Given the description of an element on the screen output the (x, y) to click on. 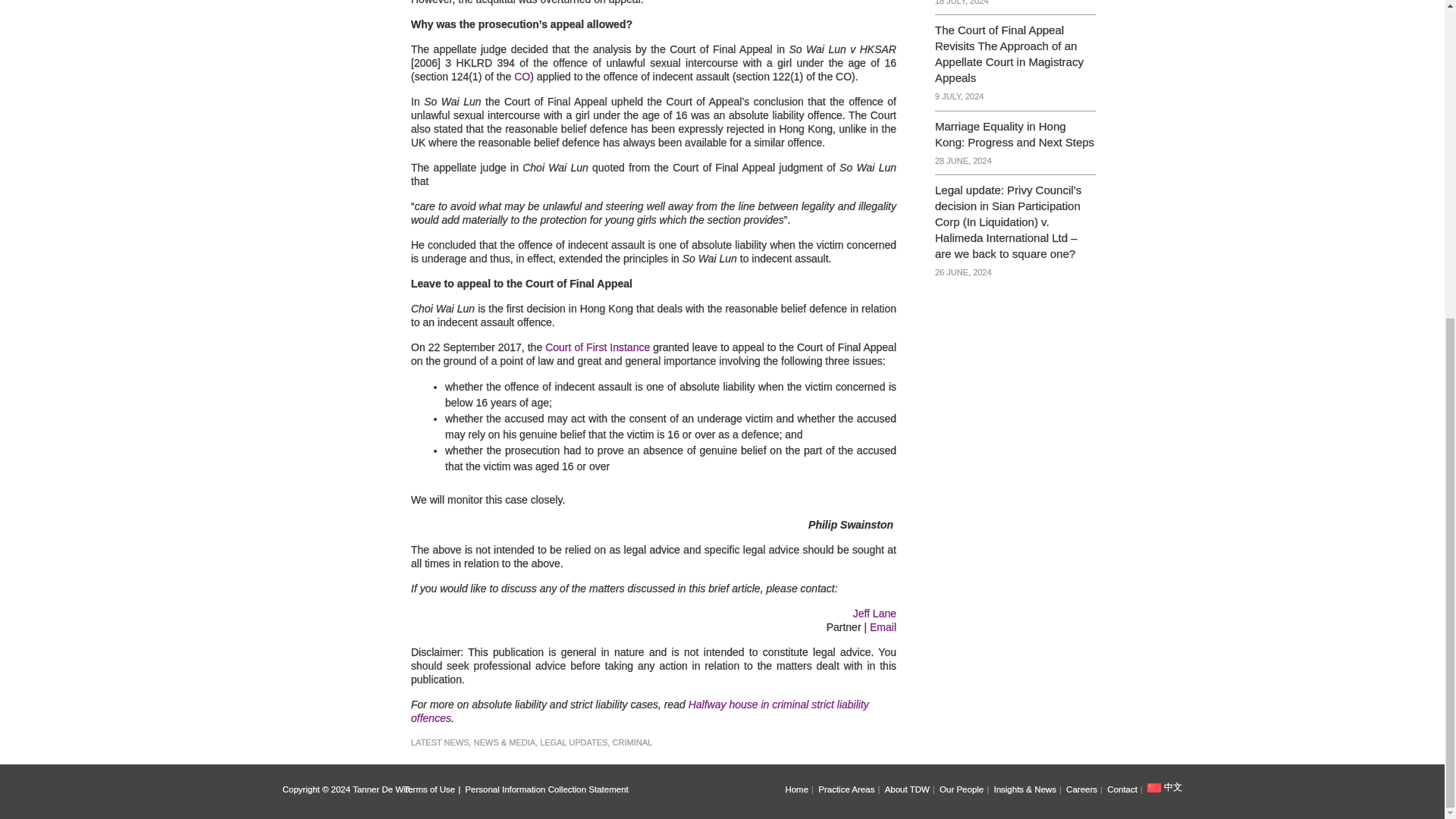
CRIMINAL (632, 741)
About TDW (911, 788)
CO (521, 76)
LATEST NEWS (439, 741)
Halfway house in criminal strict liability offences (639, 710)
Home (799, 788)
Personal Information Collection Statement (548, 788)
Court of First Instance (596, 346)
LEGAL UPDATES (573, 741)
